Given the description of an element on the screen output the (x, y) to click on. 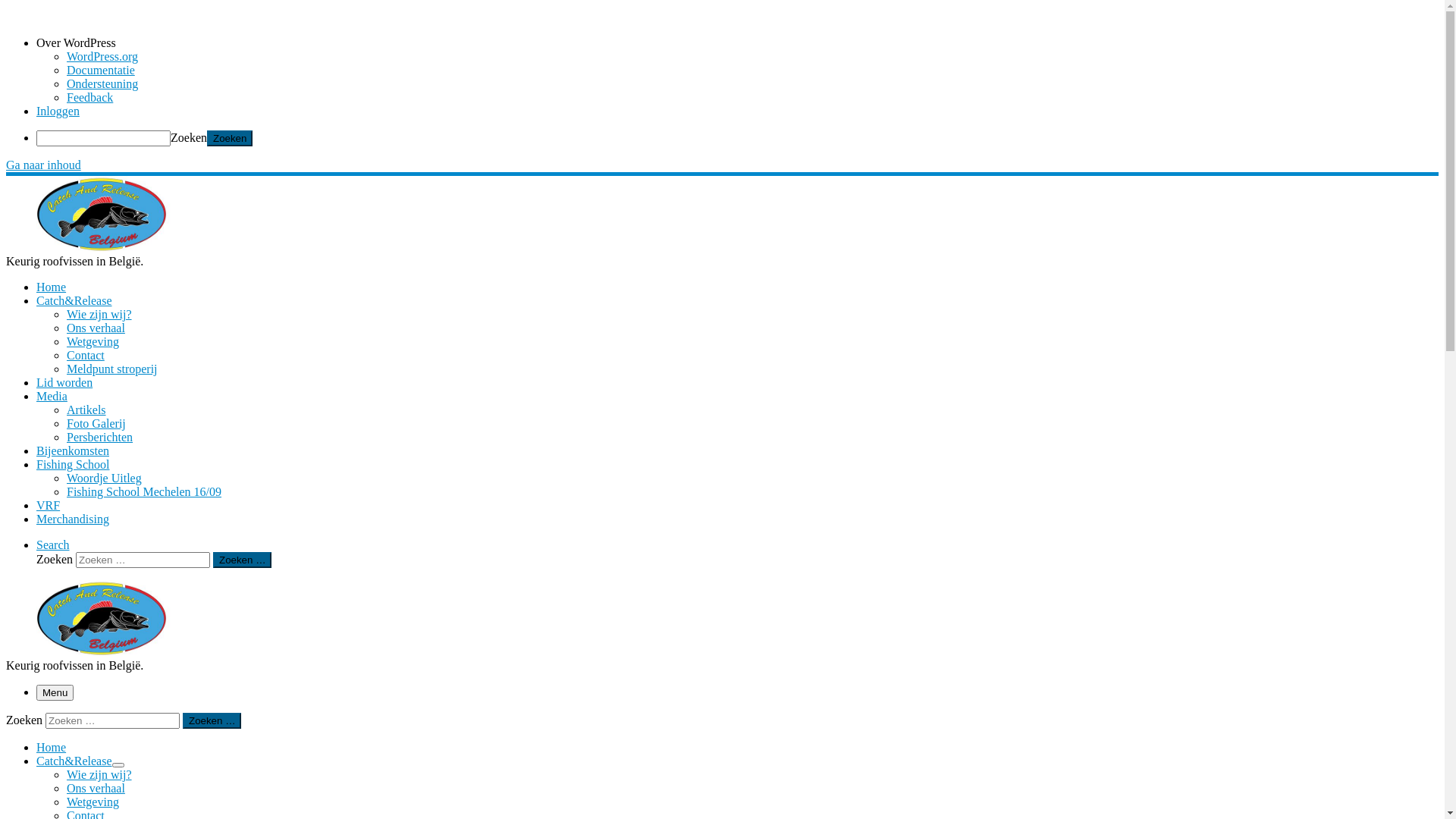
Search Element type: text (52, 544)
Documentatie Element type: text (100, 69)
Wie zijn wij? Element type: text (98, 774)
Foto Galerij Element type: text (95, 423)
Ons verhaal Element type: text (95, 327)
Contact Element type: text (85, 354)
Meldpunt stroperij Element type: text (111, 368)
Home Element type: text (50, 286)
WordPress.org Element type: text (102, 56)
Ga naar inhoud Element type: text (43, 164)
Catch&Release Element type: text (74, 300)
Ondersteuning Element type: text (102, 83)
Woordje Uitleg Element type: text (103, 477)
Wetgeving Element type: text (92, 801)
Merchandising Element type: text (72, 518)
Feedback Element type: text (89, 97)
Menu Element type: text (54, 692)
Media Element type: text (51, 395)
Catch&Release Element type: text (74, 760)
Fishing School Mechelen 16/09 Element type: text (143, 491)
Persberichten Element type: text (99, 436)
VRF Element type: text (47, 504)
Artikels Element type: text (86, 409)
Lid worden Element type: text (64, 382)
Zoeken Element type: text (229, 138)
Fishing School Element type: text (72, 464)
Wetgeving Element type: text (92, 341)
Home Element type: text (50, 746)
Ons verhaal Element type: text (95, 787)
Inloggen Element type: text (57, 110)
Wie zijn wij? Element type: text (98, 313)
Bijeenkomsten Element type: text (72, 450)
